Given the description of an element on the screen output the (x, y) to click on. 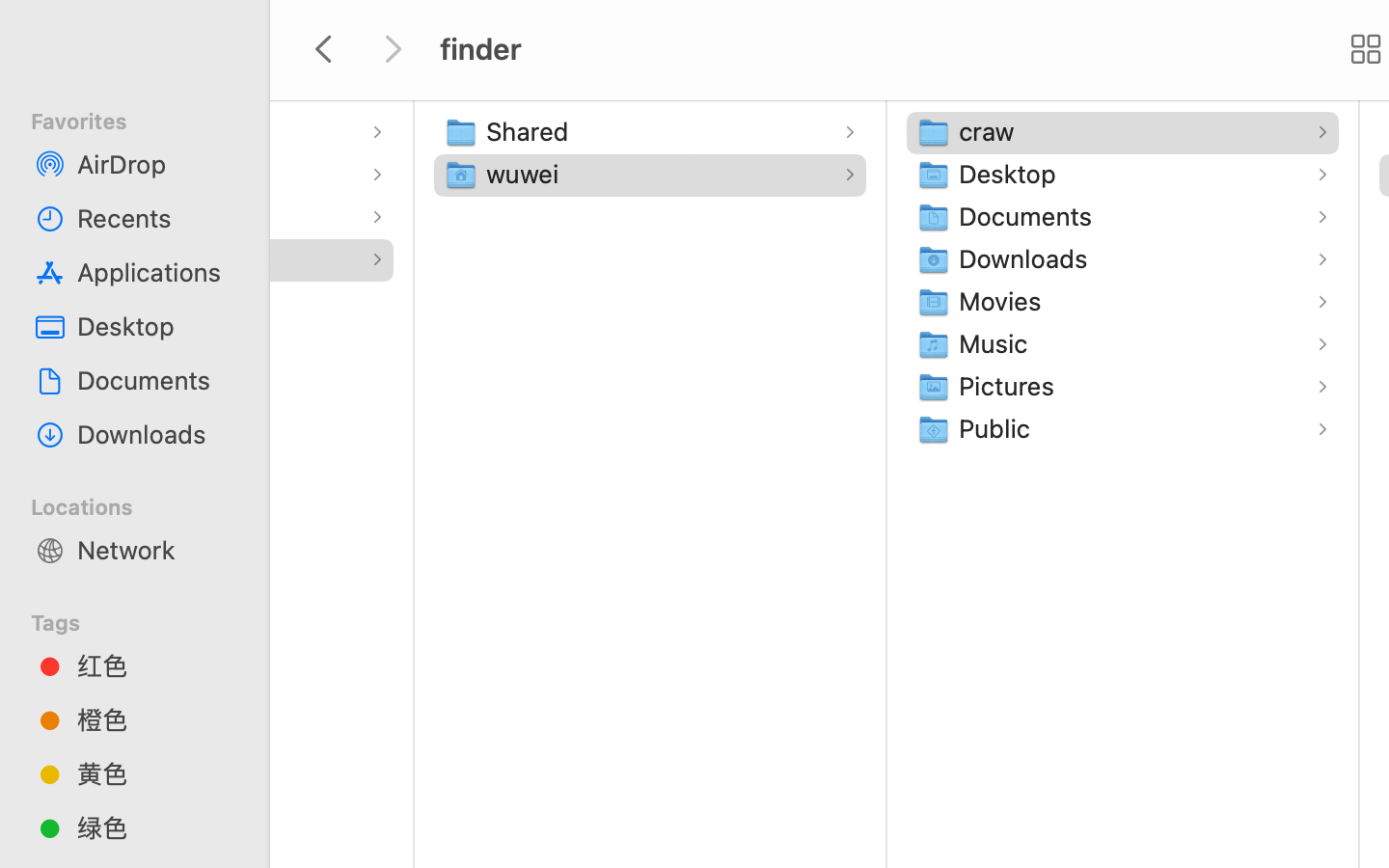
Music Element type: AXTextField (996, 342)
Users Element type: AXTextField (51, 258)
Pictures Element type: AXTextField (1010, 385)
wuwei Element type: AXTextField (526, 173)
Tags Element type: AXStaticText (145, 619)
